Given the description of an element on the screen output the (x, y) to click on. 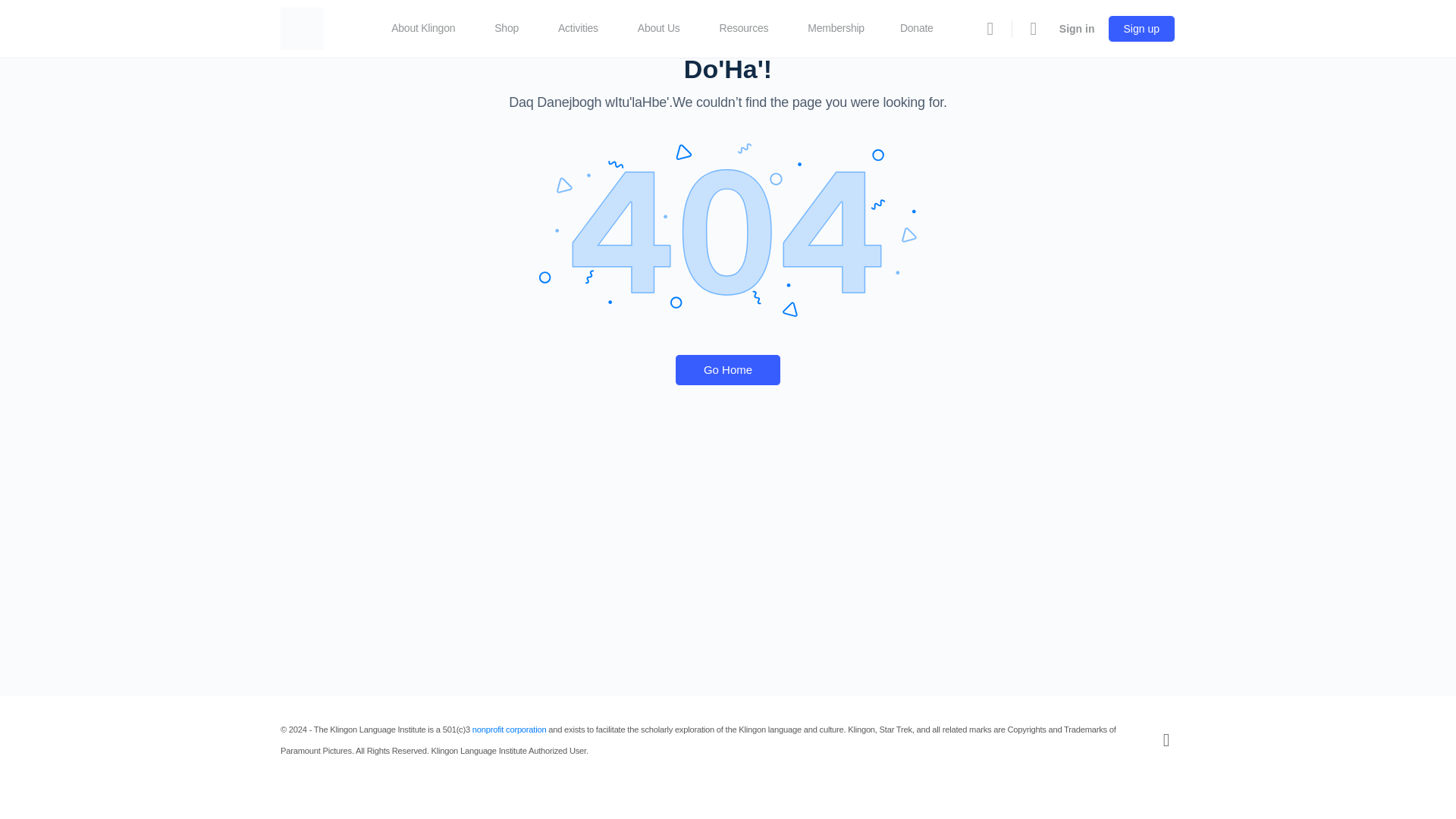
Resources (750, 28)
About Us (665, 28)
Shop (512, 28)
Activities (584, 28)
About Klingon (430, 28)
